Given the description of an element on the screen output the (x, y) to click on. 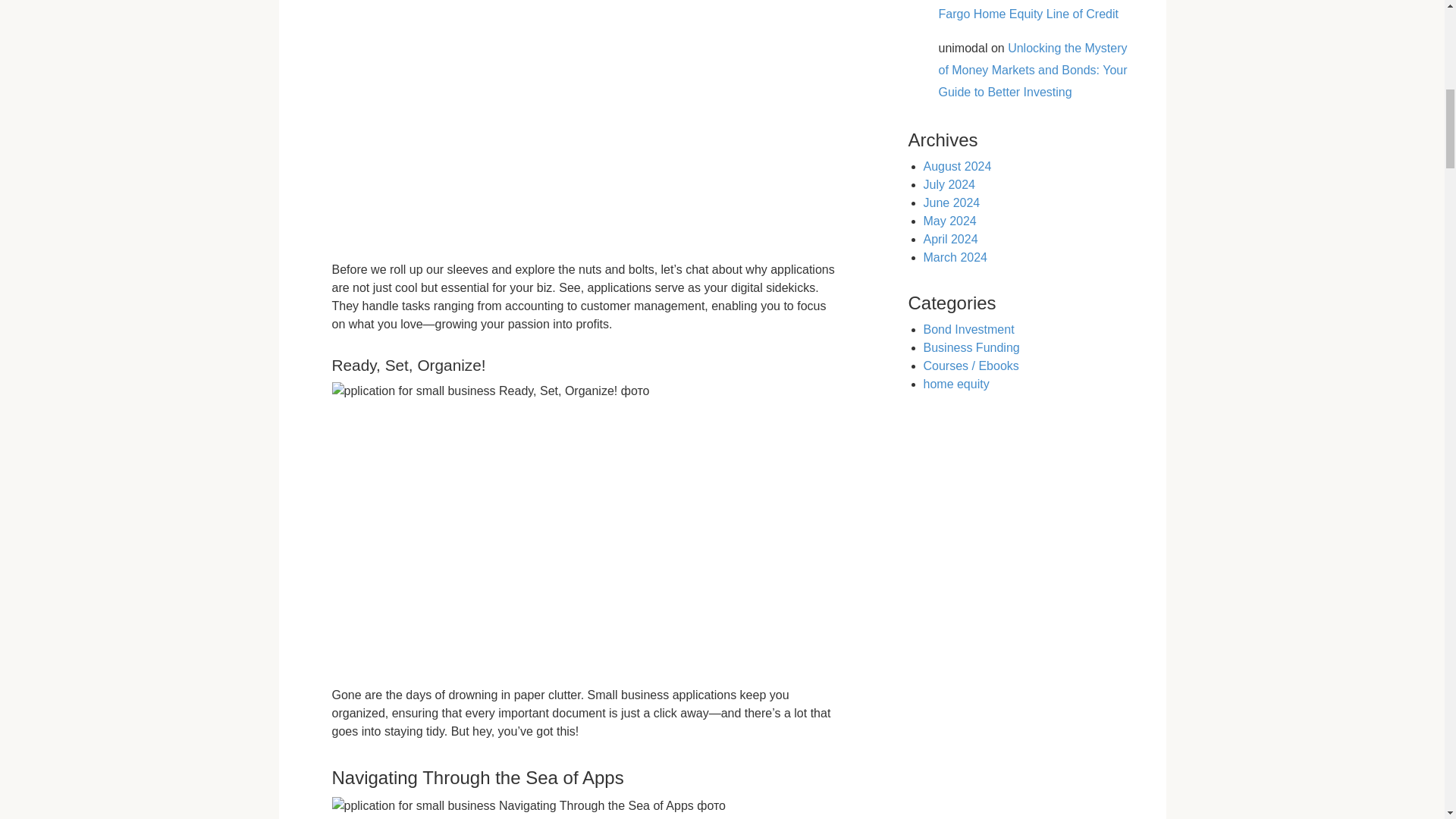
August 2024 (957, 165)
March 2024 (955, 256)
April 2024 (950, 238)
July 2024 (949, 184)
Bond Investment (968, 328)
May 2024 (949, 220)
Business Funding (971, 347)
June 2024 (951, 202)
home equity (956, 383)
